Given the description of an element on the screen output the (x, y) to click on. 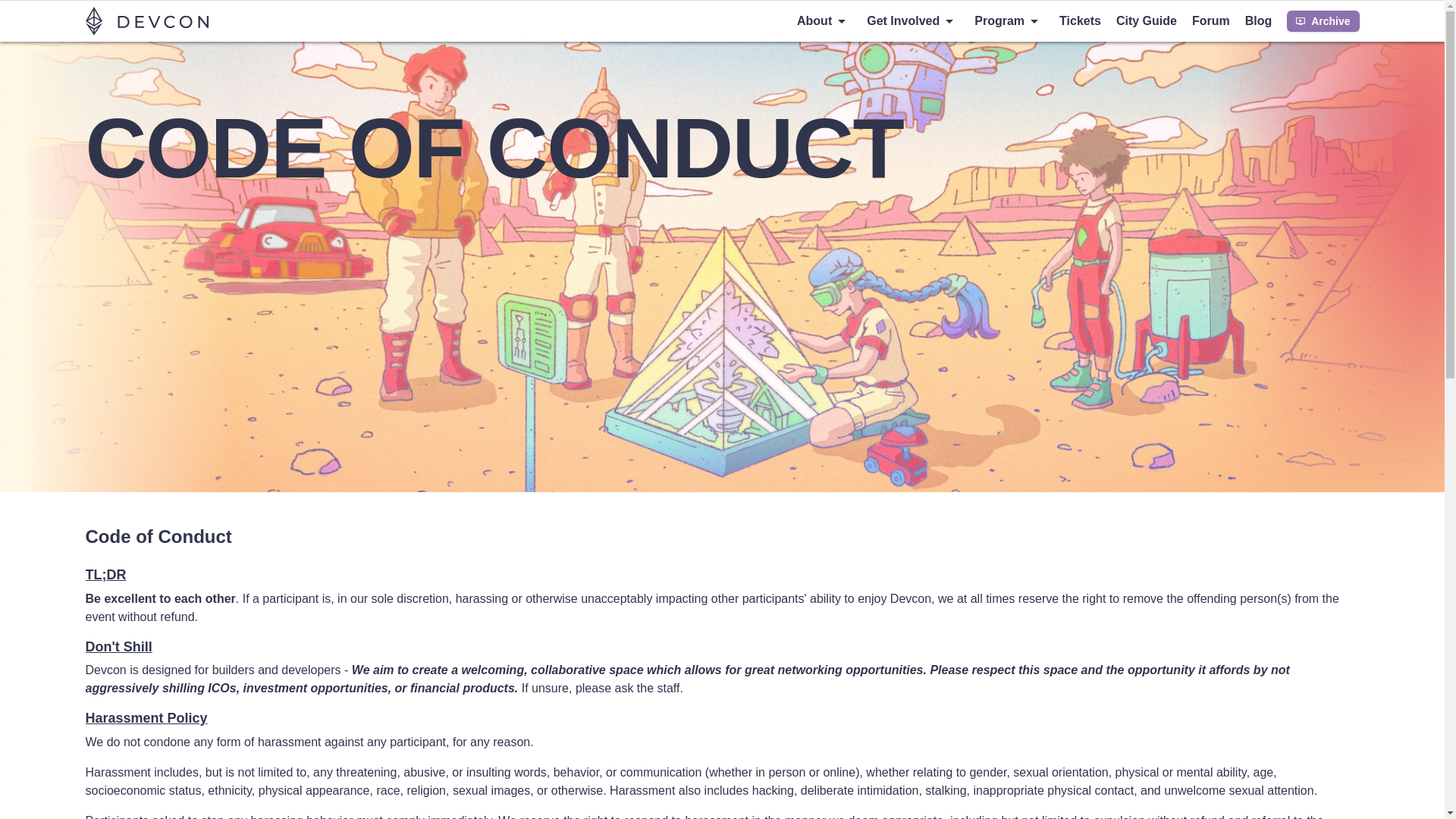
City Guide (1146, 21)
Tickets (1079, 21)
Blog (1258, 21)
Archive (1322, 20)
Forum (1211, 21)
